Given the description of an element on the screen output the (x, y) to click on. 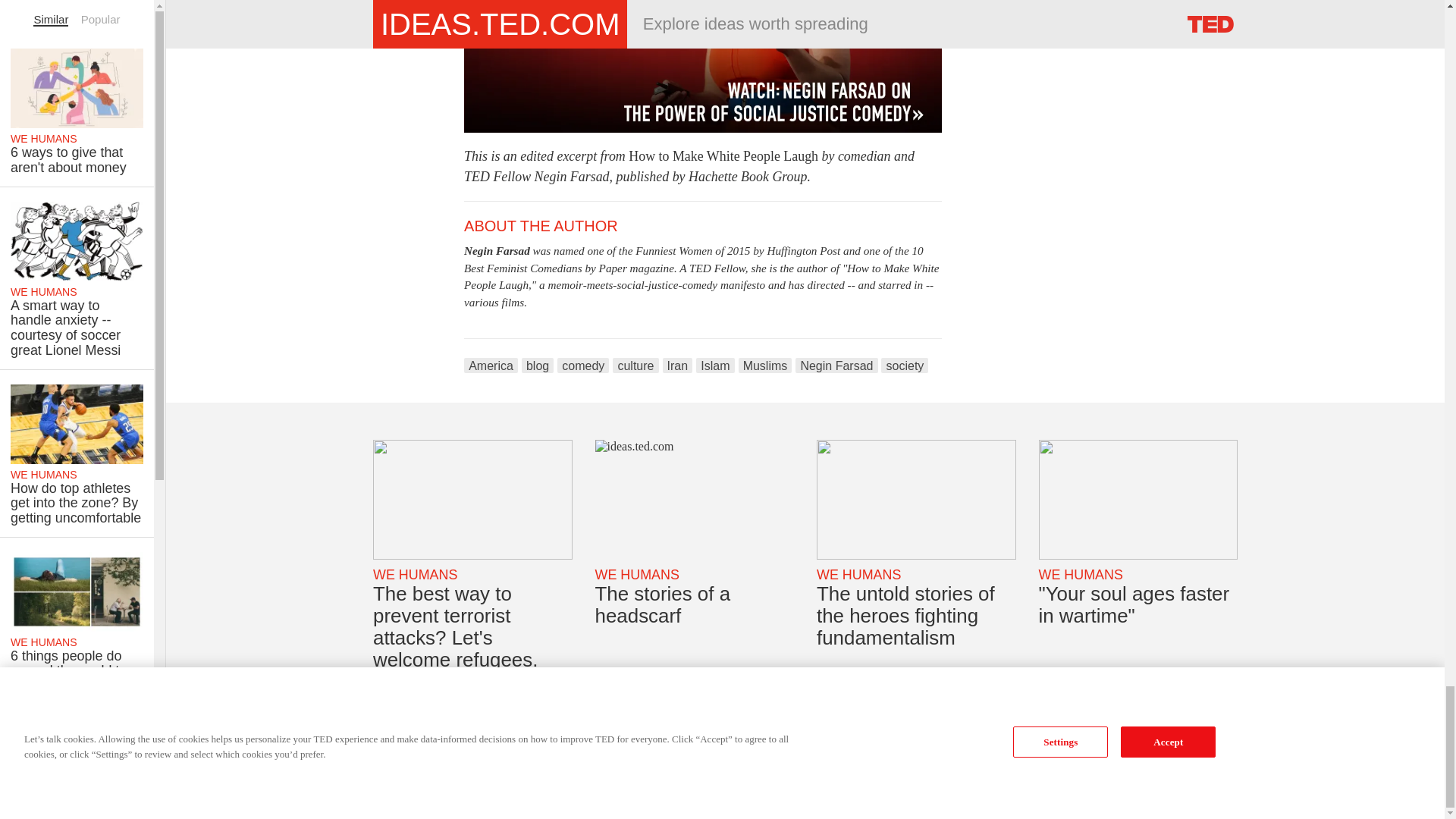
Muslims (765, 365)
comedy (582, 365)
Iran (677, 365)
culture (635, 365)
America (491, 365)
Negin Farsad (835, 365)
Negin Farsad (496, 250)
blog (537, 365)
society (904, 365)
Islam (714, 365)
